Given the description of an element on the screen output the (x, y) to click on. 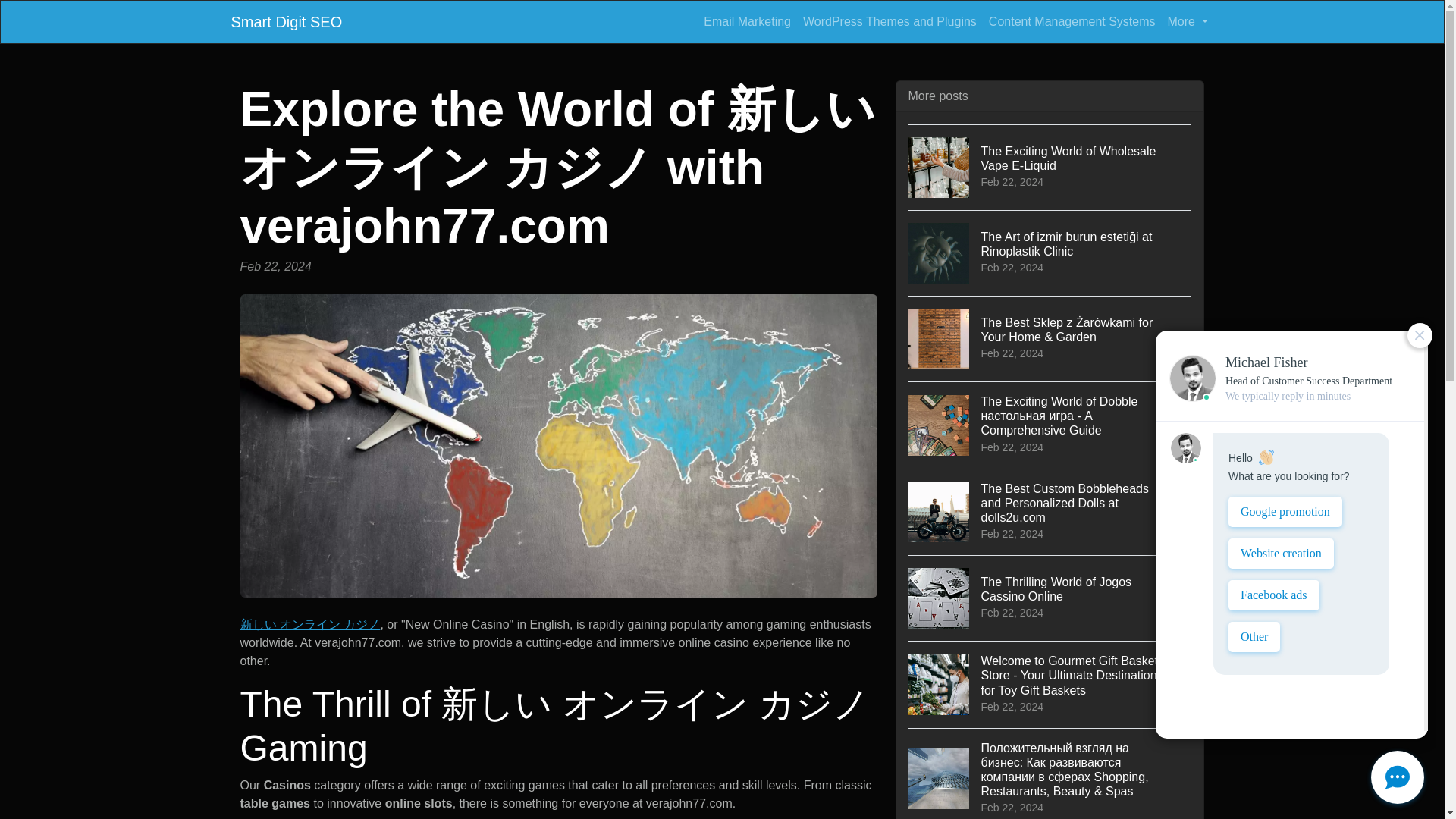
More (1187, 21)
Content Management Systems (1071, 21)
WordPress Themes and Plugins (1050, 597)
Smart Digit SEO (889, 21)
Email Marketing (286, 21)
